Given the description of an element on the screen output the (x, y) to click on. 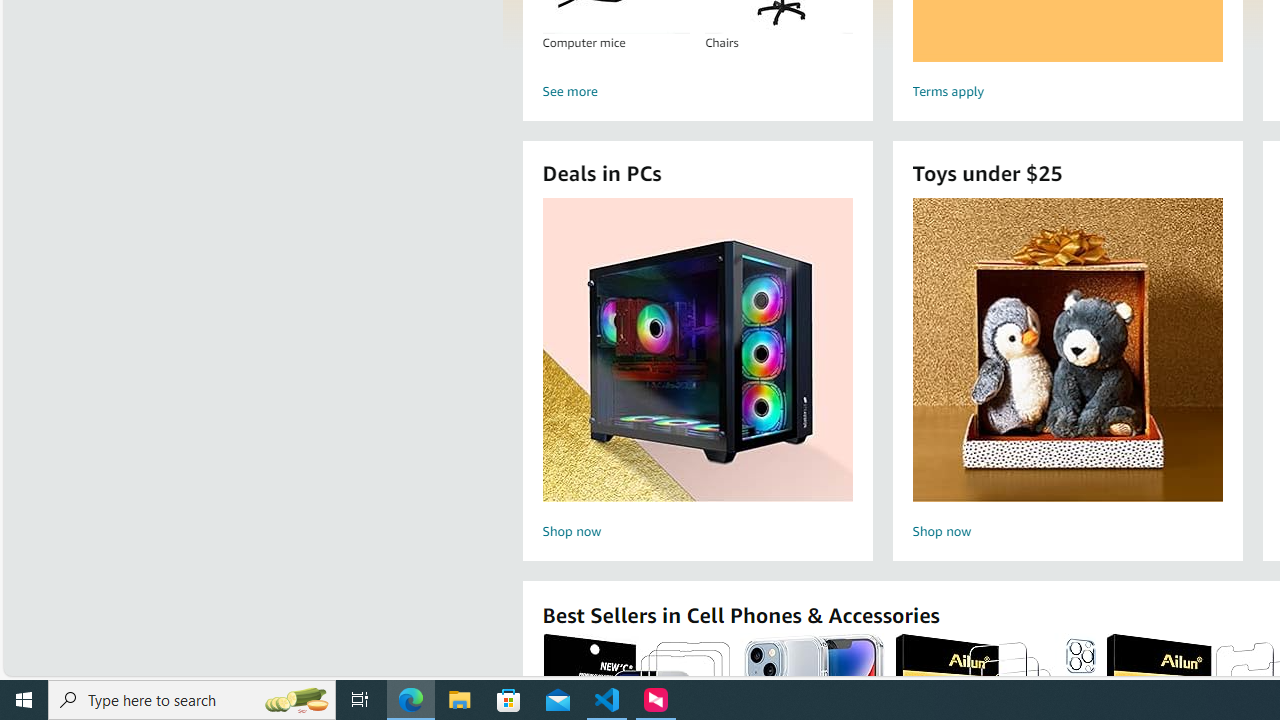
Deals in PCs (697, 349)
Toys under $25 Shop now (1067, 371)
Deals in PCs Shop now (697, 371)
Toys under $25 (1067, 349)
